Given the description of an element on the screen output the (x, y) to click on. 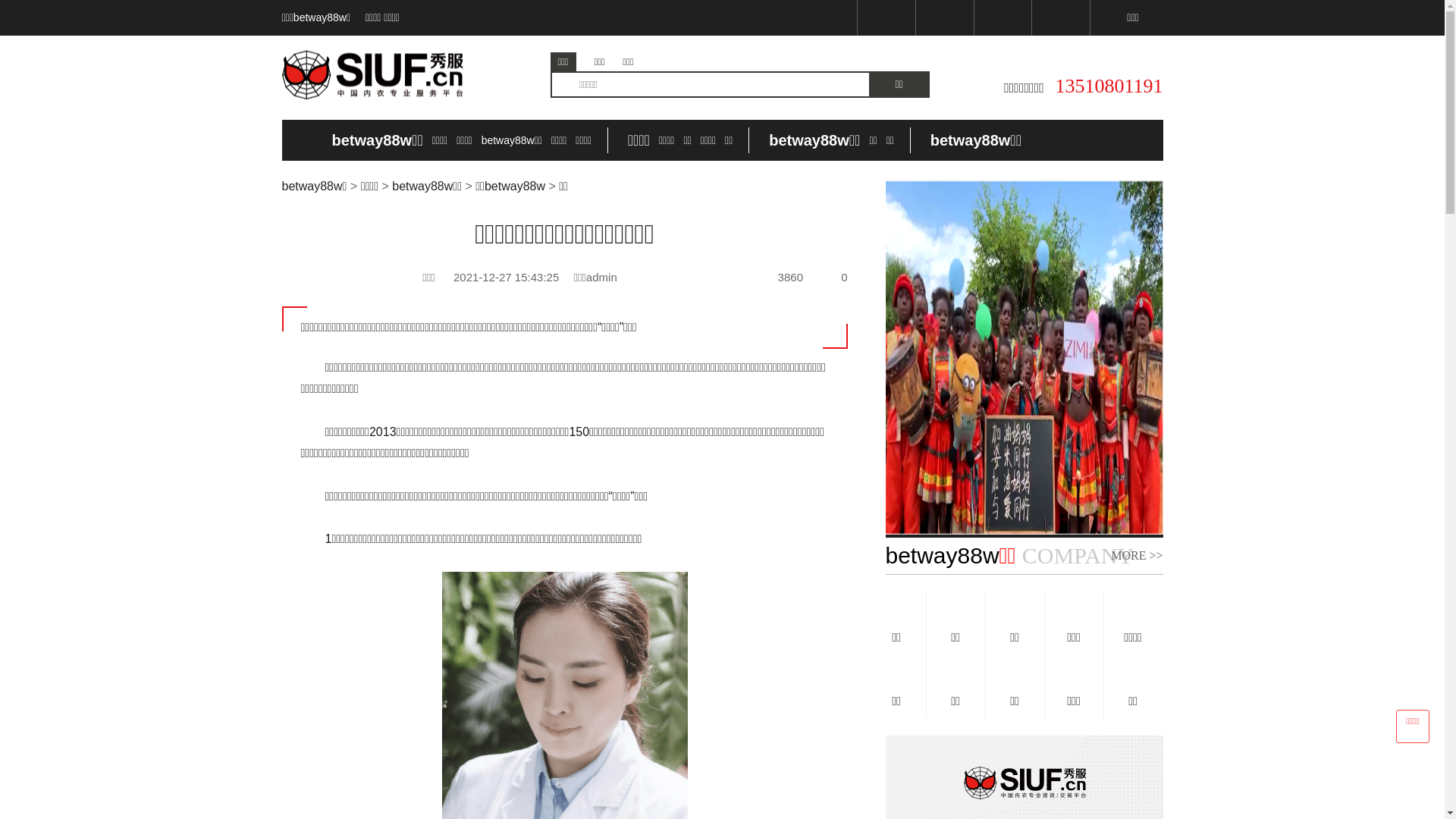
MORE >> Element type: text (1136, 555)
